Given the description of an element on the screen output the (x, y) to click on. 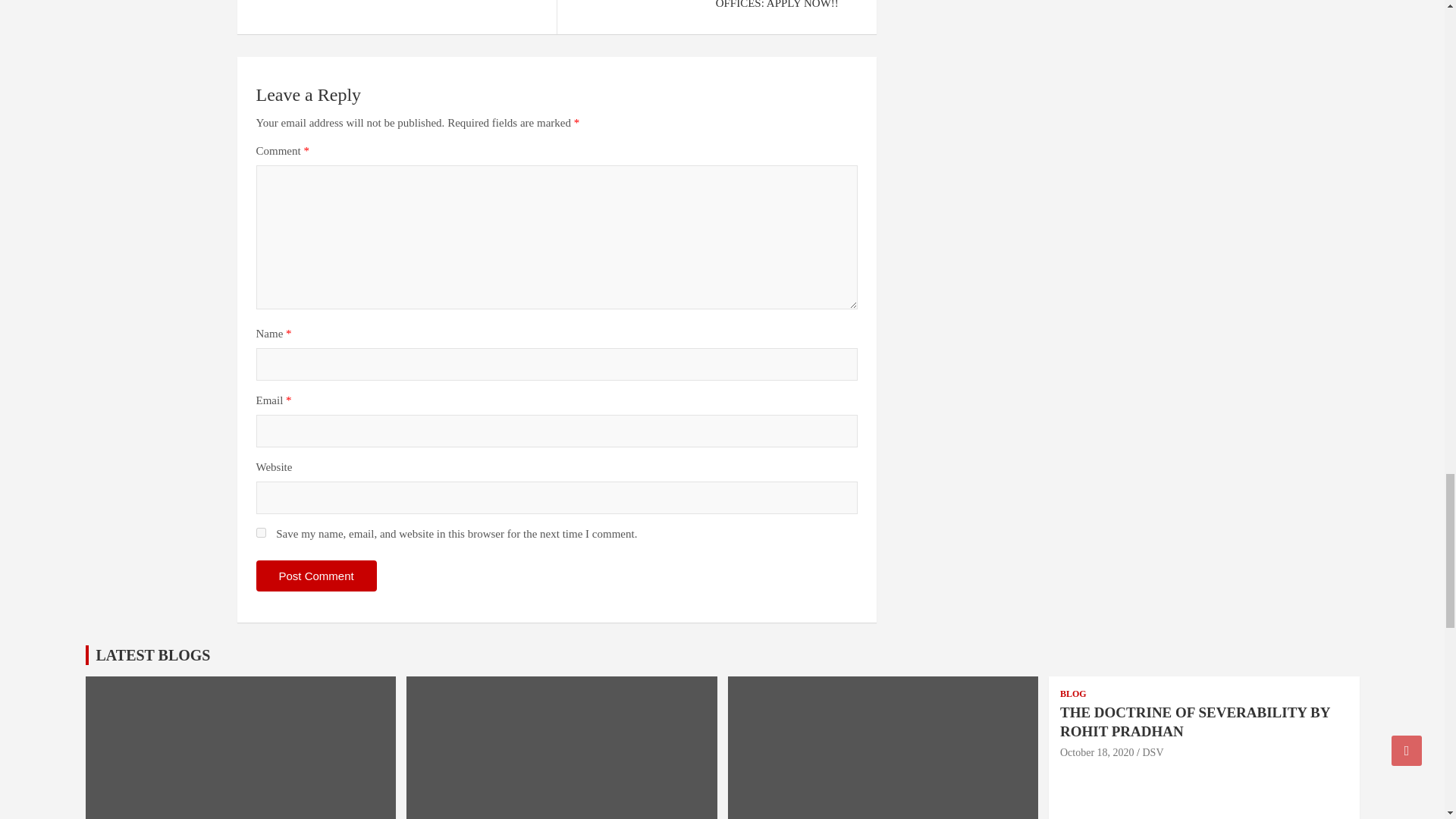
Post Comment (316, 575)
yes (261, 532)
THE DOCTRINE OF SEVERABILITY BY ROHIT PRADHAN (1096, 752)
